Given the description of an element on the screen output the (x, y) to click on. 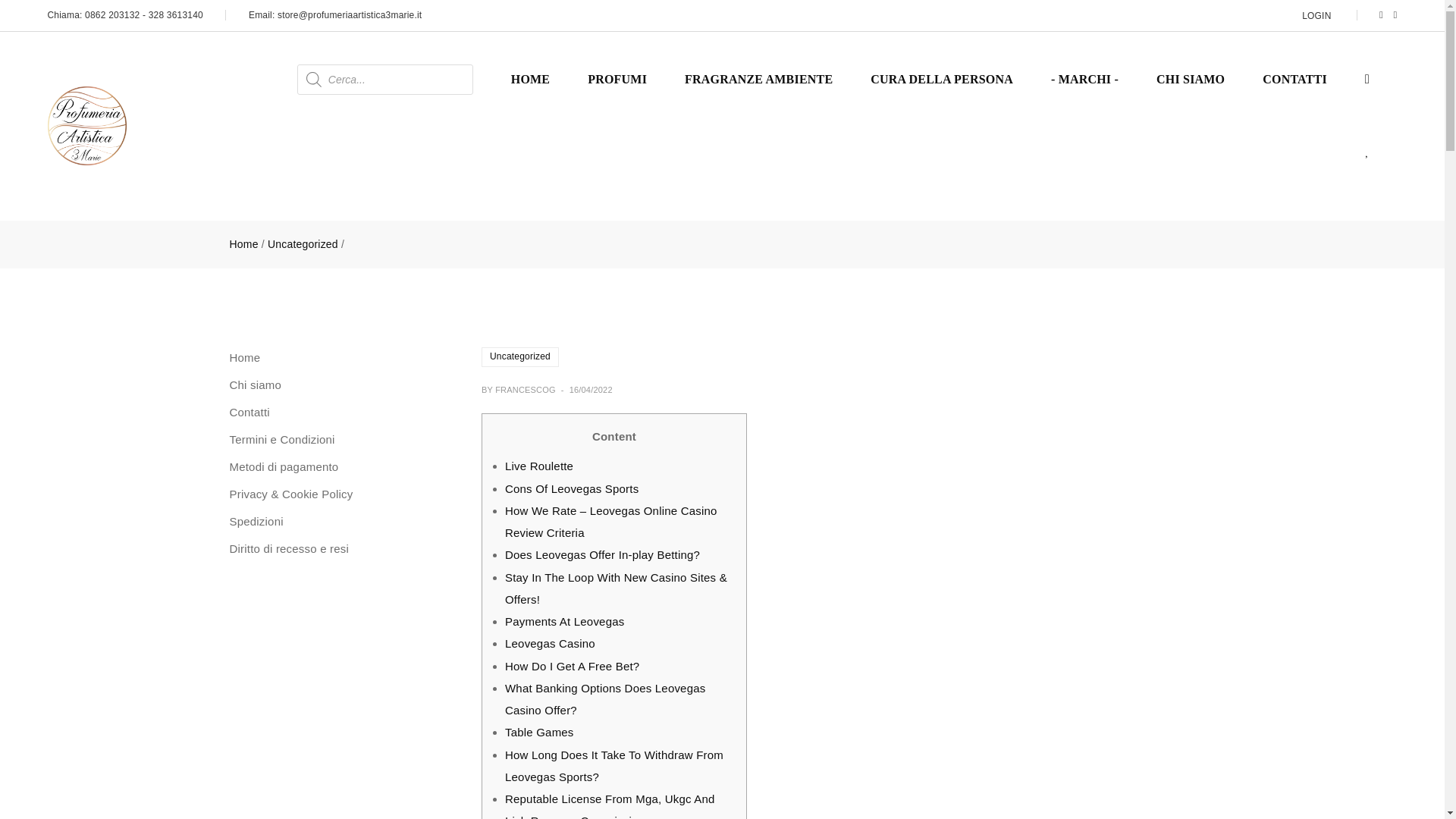
Live Roulette (539, 465)
Payments At Leovegas (564, 621)
Does Leovegas Offer In-play Betting? (602, 554)
Leovegas Casino (550, 643)
PROFUMI (617, 78)
- MARCHI - (1084, 78)
Uncategorized (302, 244)
Cons Of Leovegas Sports (572, 488)
Uncategorized (520, 356)
FRAGRANZE AMBIENTE (758, 78)
